Given the description of an element on the screen output the (x, y) to click on. 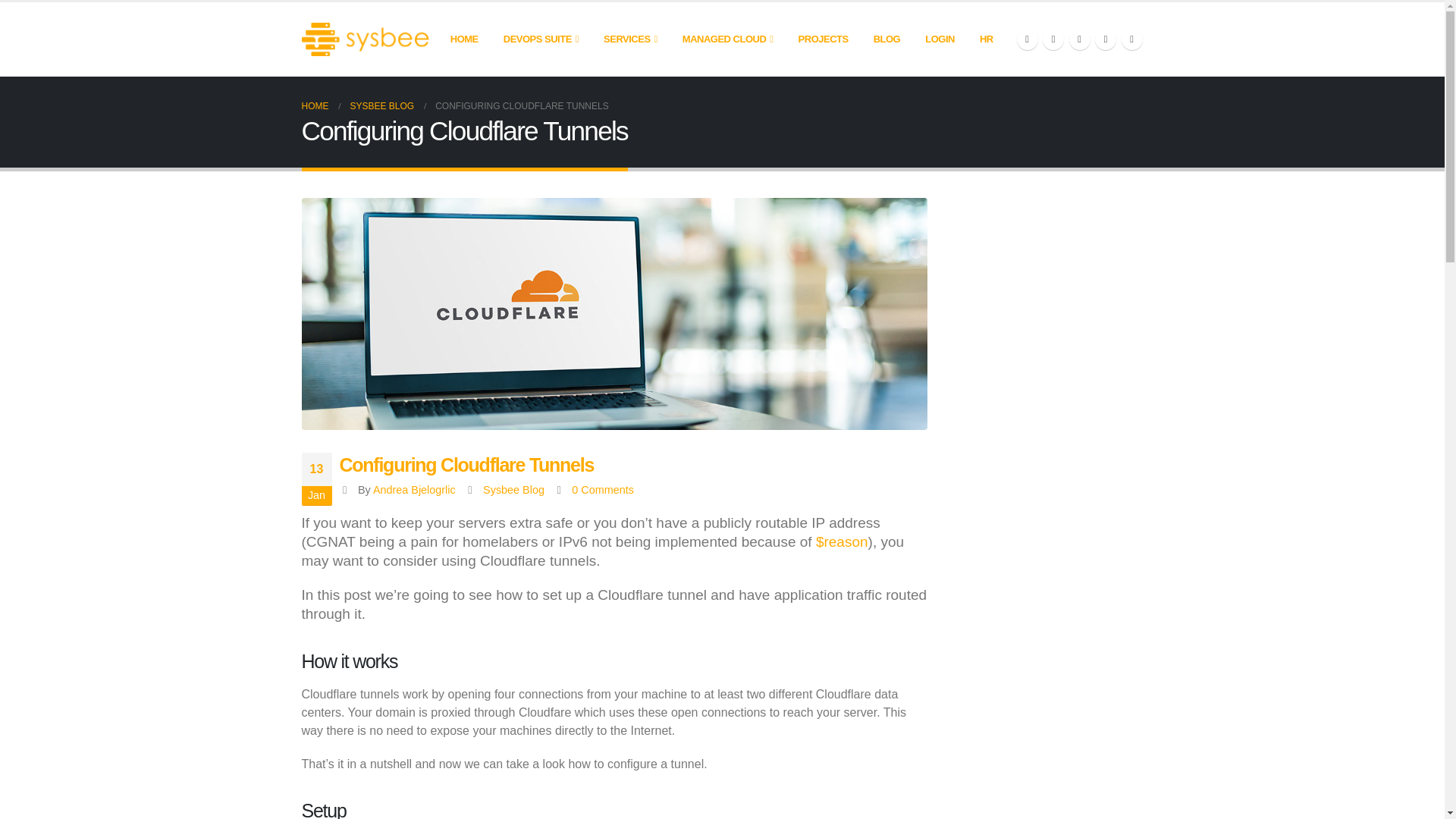
Instagram (1105, 38)
HR (987, 39)
MANAGED CLOUD (727, 39)
LinkedIn (1131, 38)
SERVICES (630, 39)
0 Comments (602, 490)
BLOG (886, 39)
Facebook (1027, 38)
HOME (464, 39)
Youtube (1079, 38)
